Given the description of an element on the screen output the (x, y) to click on. 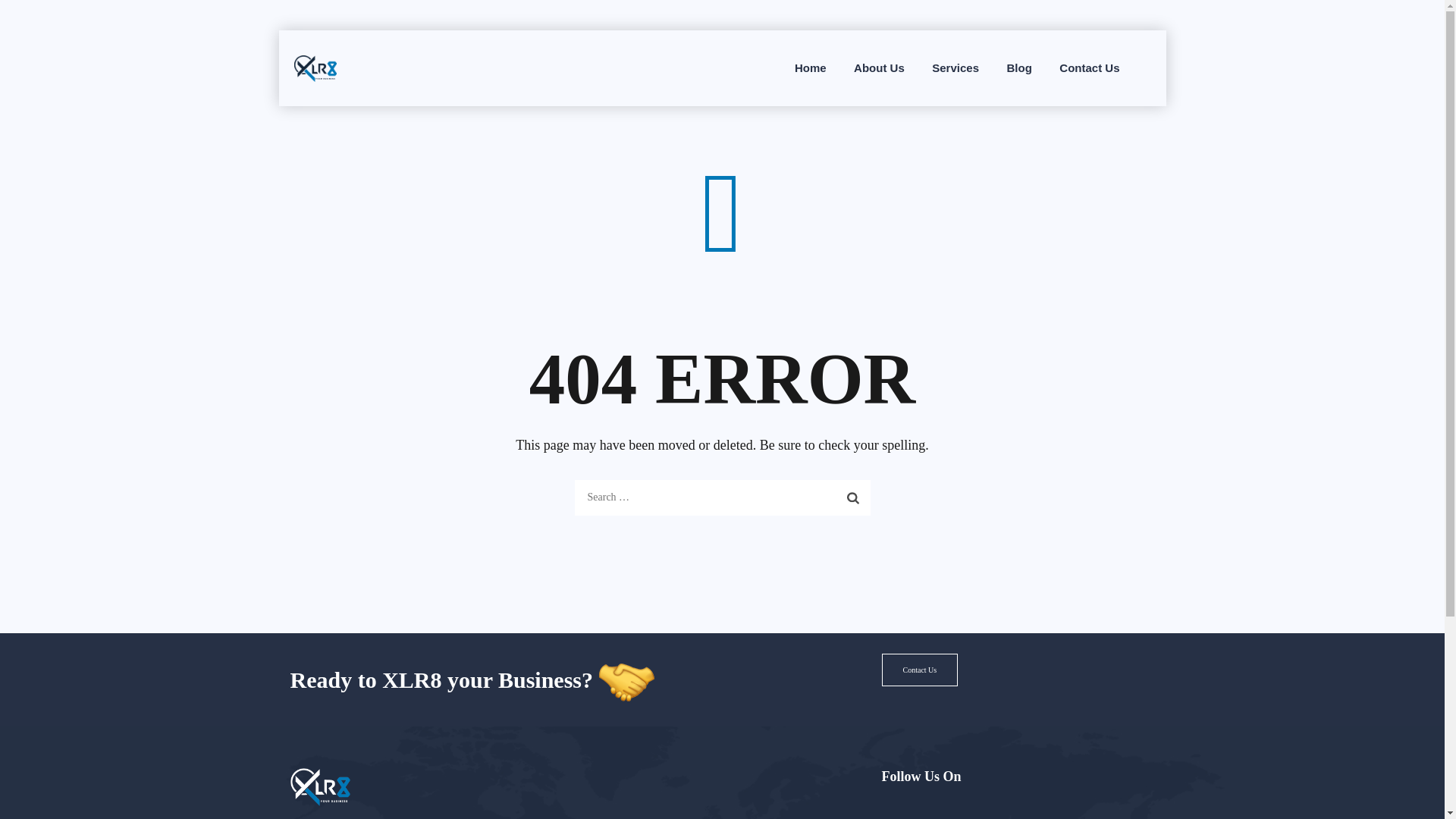
Search (852, 497)
Search (852, 497)
About Us (879, 68)
Contact Us (919, 669)
Services (954, 68)
Search (852, 497)
Contact Us (1089, 68)
